Given the description of an element on the screen output the (x, y) to click on. 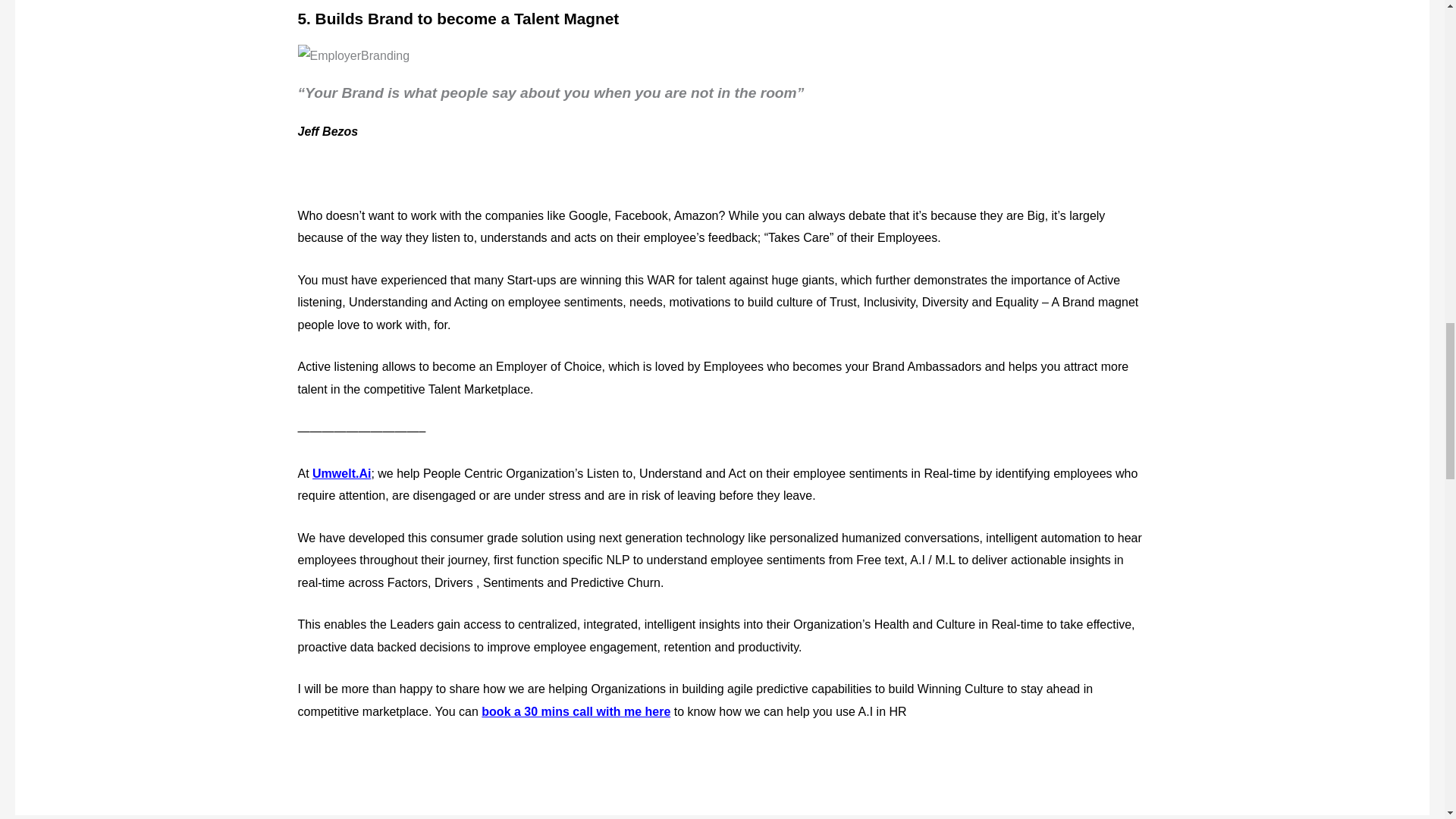
book a 30 mins call with me here (575, 711)
Umwelt.Ai (342, 472)
EmployerBranding (353, 56)
